Given the description of an element on the screen output the (x, y) to click on. 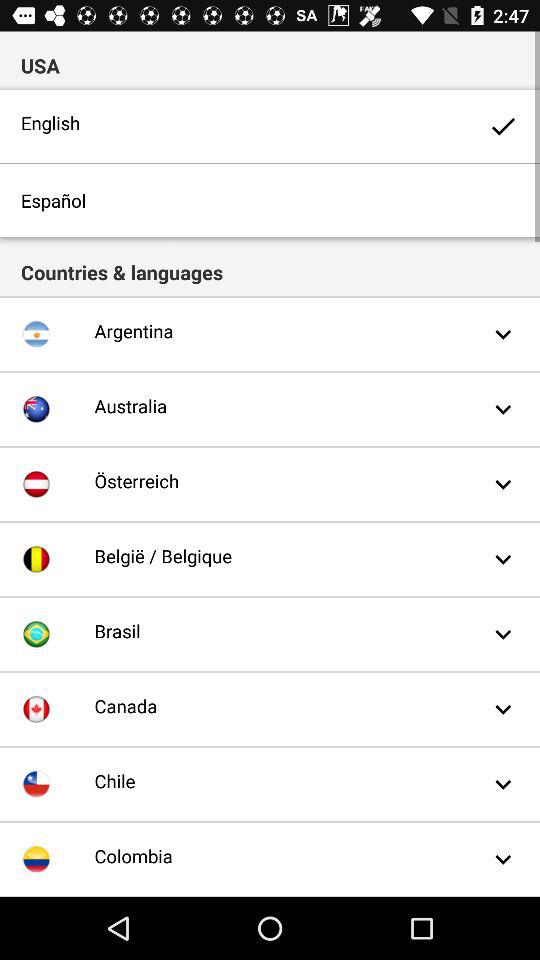
launch the item below the usa icon (270, 126)
